Given the description of an element on the screen output the (x, y) to click on. 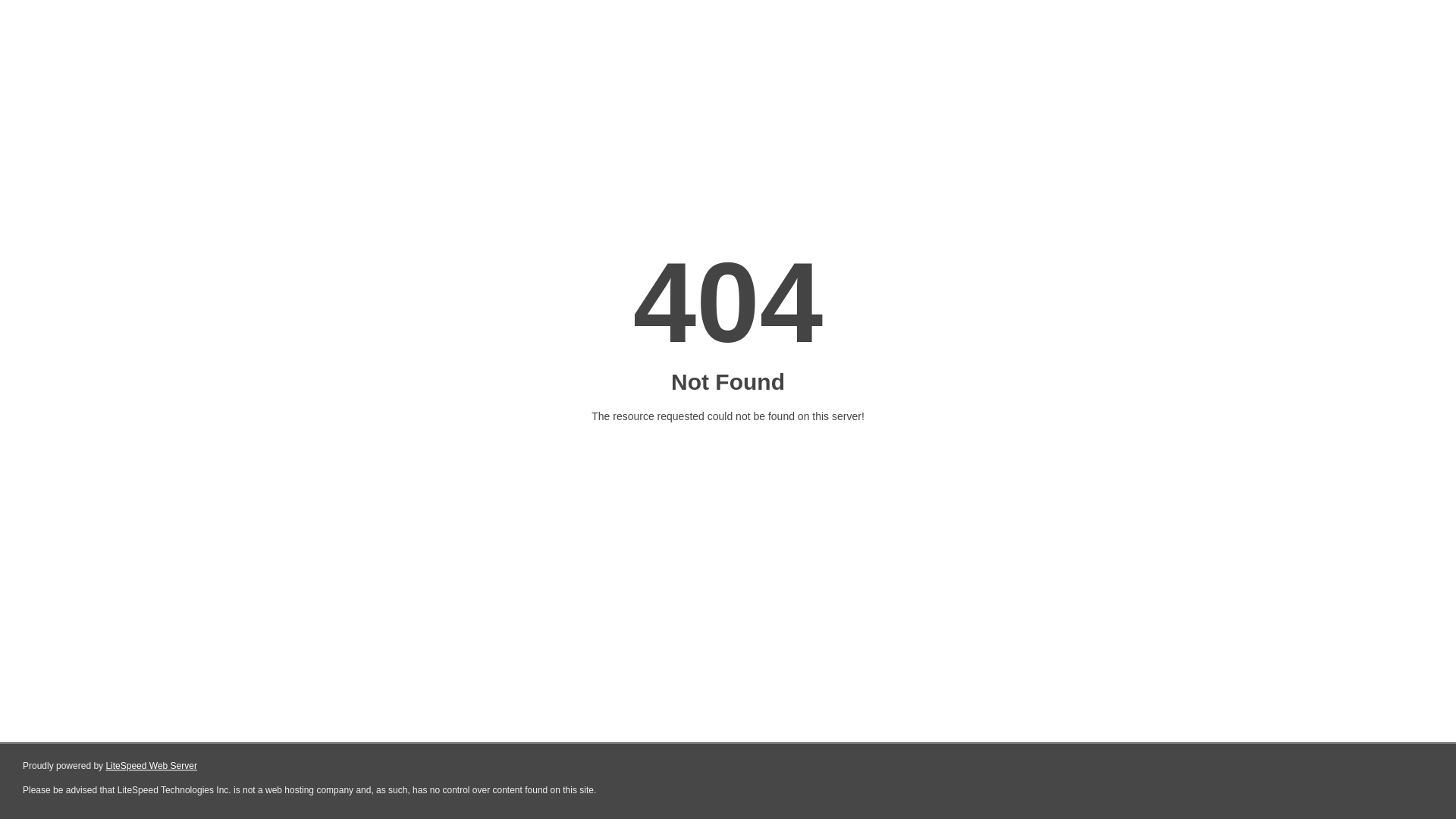
LiteSpeed Web Server Element type: text (151, 765)
